Given the description of an element on the screen output the (x, y) to click on. 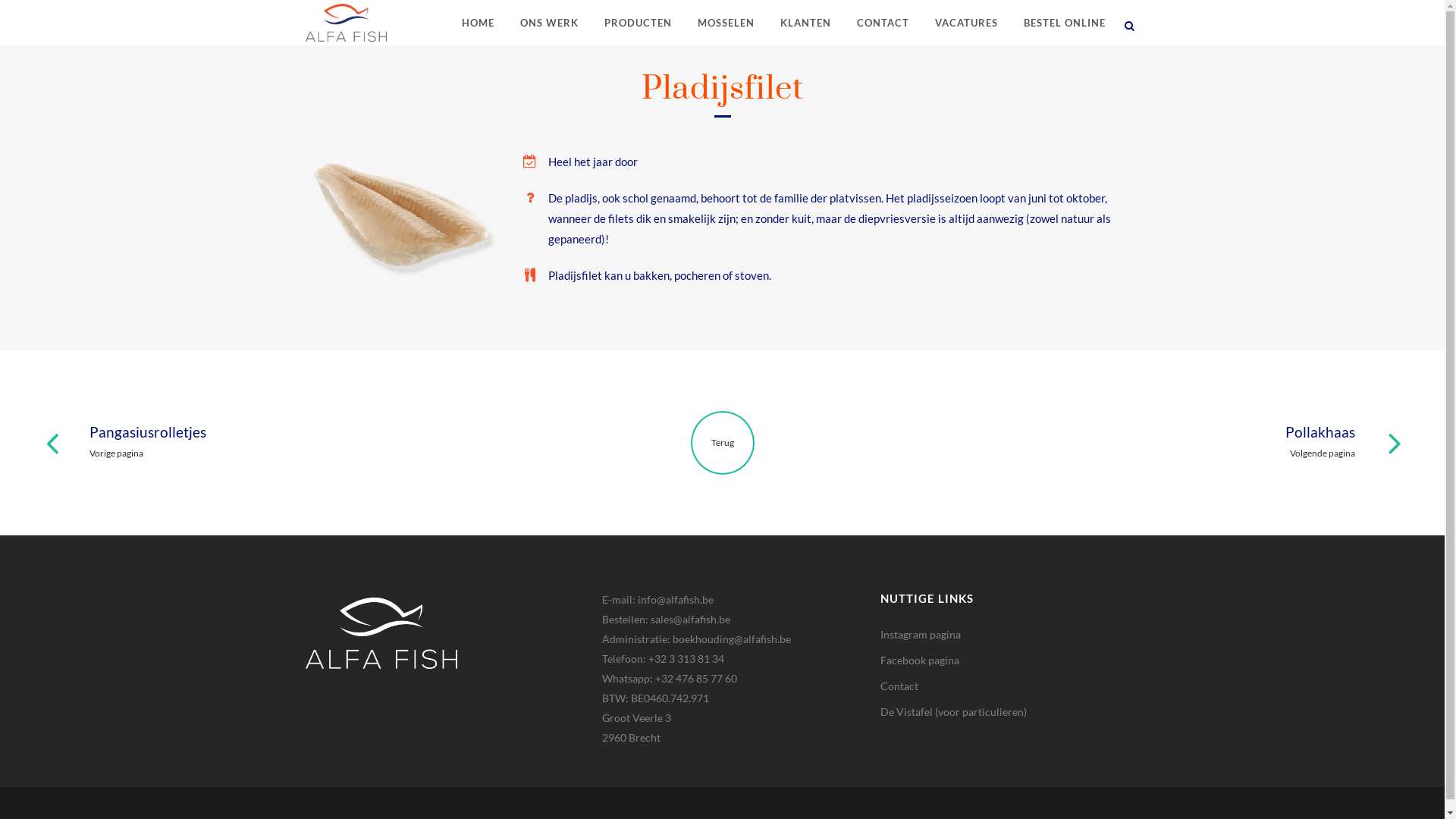
HOME Element type: text (477, 22)
De Vistafel (voor particulieren) Element type: text (953, 711)
Instagram pagina Element type: text (920, 633)
KLANTEN Element type: text (805, 22)
PRODUCTEN Element type: text (637, 22)
boekhouding@alfafish.be Element type: text (731, 638)
Contact Element type: text (899, 685)
info@alfafish.be Element type: text (675, 599)
CONTACT Element type: text (882, 22)
ONS WERK Element type: text (548, 22)
Pangasiusrolletjes
Vorige pagina Element type: text (389, 440)
sales@alfafish.be Element type: text (690, 618)
Facebook pagina Element type: text (919, 659)
VACATURES Element type: text (966, 22)
MOSSELEN Element type: text (725, 22)
BESTEL ONLINE Element type: text (1063, 22)
Terug Element type: text (721, 442)
Pollakhaas
Volgende pagina Element type: text (1054, 440)
